Given the description of an element on the screen output the (x, y) to click on. 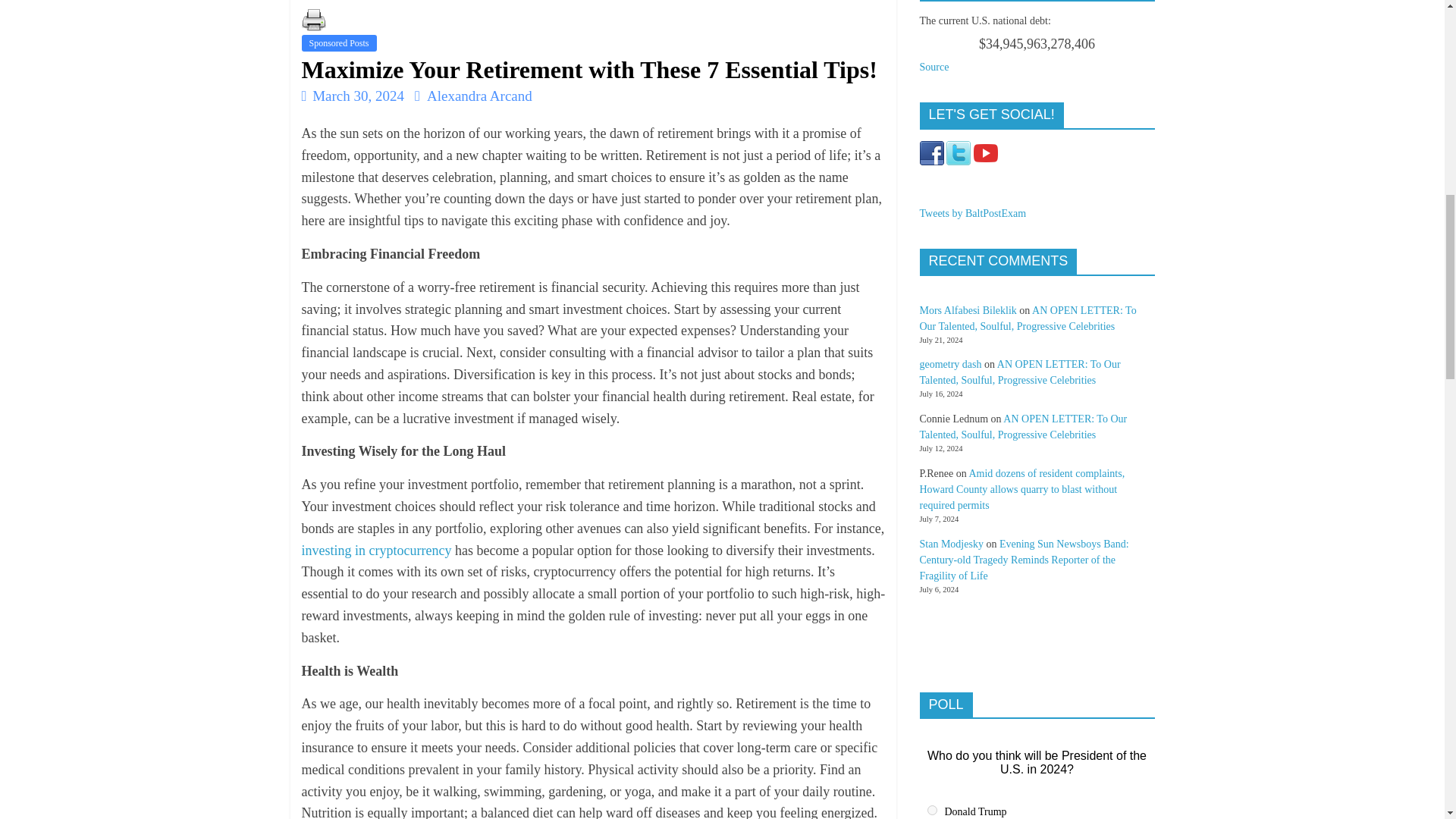
Alexandra Arcand (479, 95)
March 30, 2024 (352, 95)
Tweets by BaltPostExam (972, 213)
Source (933, 66)
1 (931, 809)
investing in cryptocurrency (376, 549)
Sponsored Posts (339, 43)
1:25 PM (352, 95)
Alexandra Arcand (479, 95)
